Given the description of an element on the screen output the (x, y) to click on. 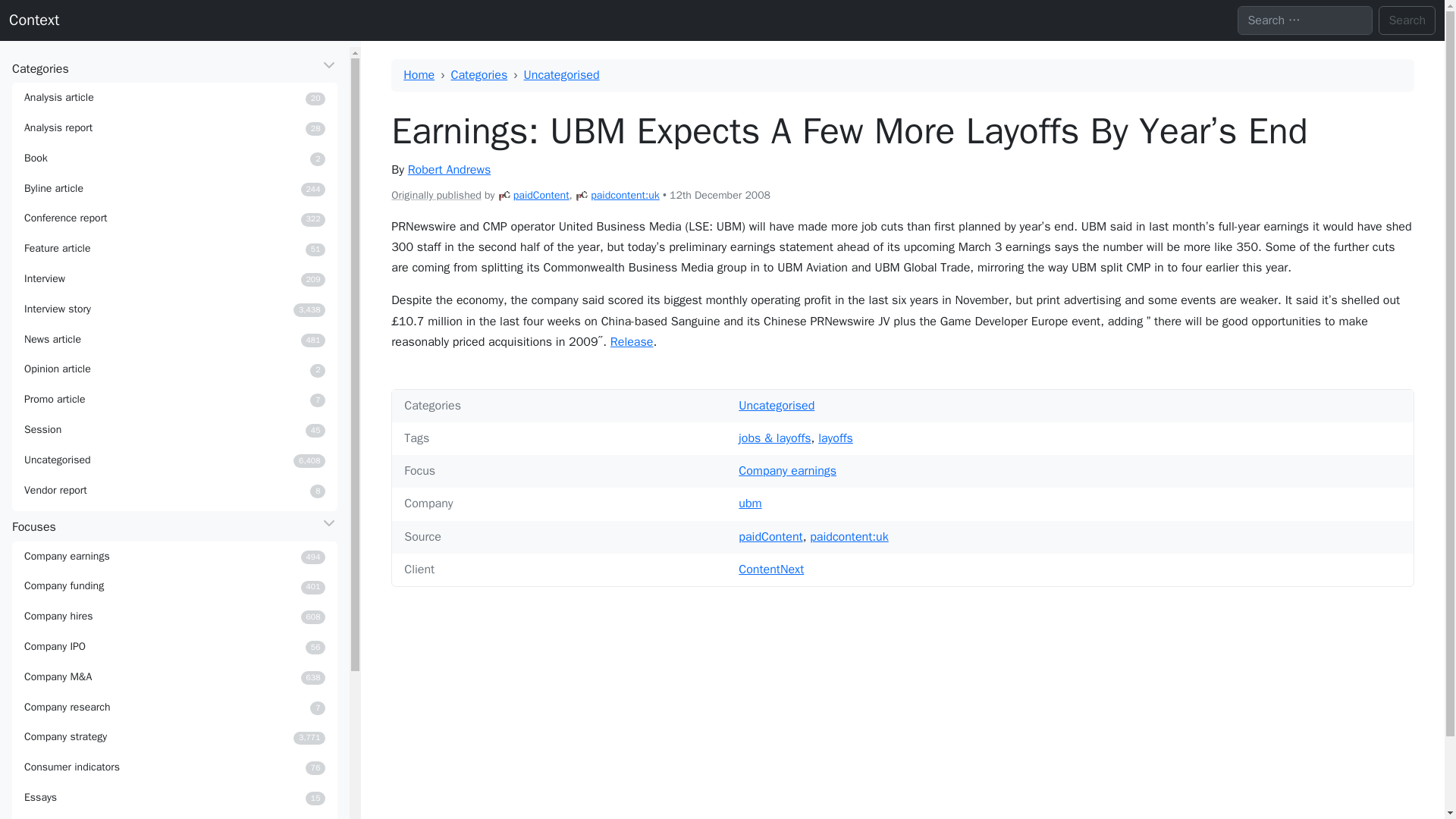
paidContent (174, 158)
Posts by Robert Andrews (174, 616)
Context (174, 585)
12th December 2008 (581, 195)
Categories (174, 97)
